Given the description of an element on the screen output the (x, y) to click on. 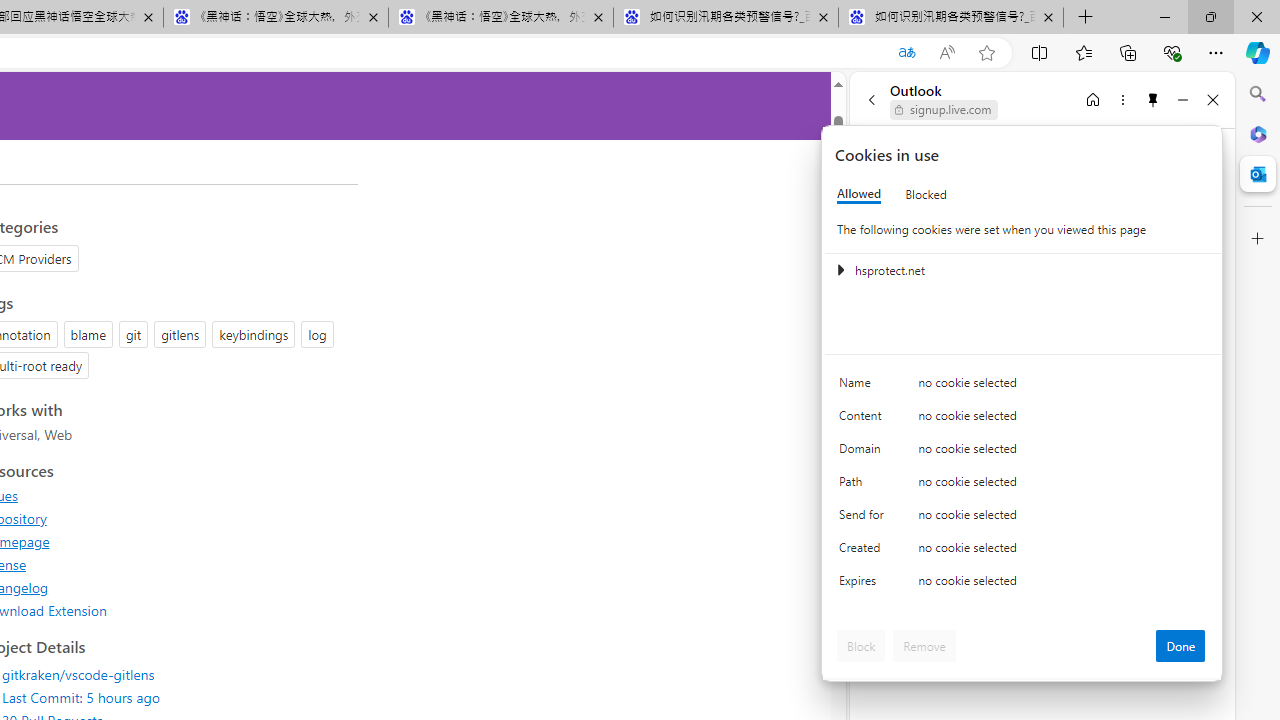
Expires (864, 585)
Block (861, 645)
Class: c0153 c0157 c0154 (1023, 386)
Done (1179, 645)
Remove (924, 645)
Content (864, 420)
Path (864, 485)
no cookie selected (1062, 585)
Created (864, 552)
Allowed (859, 193)
Send for (864, 518)
Name (864, 387)
Domain (864, 452)
Blocked (925, 193)
Class: c0153 c0157 (1023, 584)
